Given the description of an element on the screen output the (x, y) to click on. 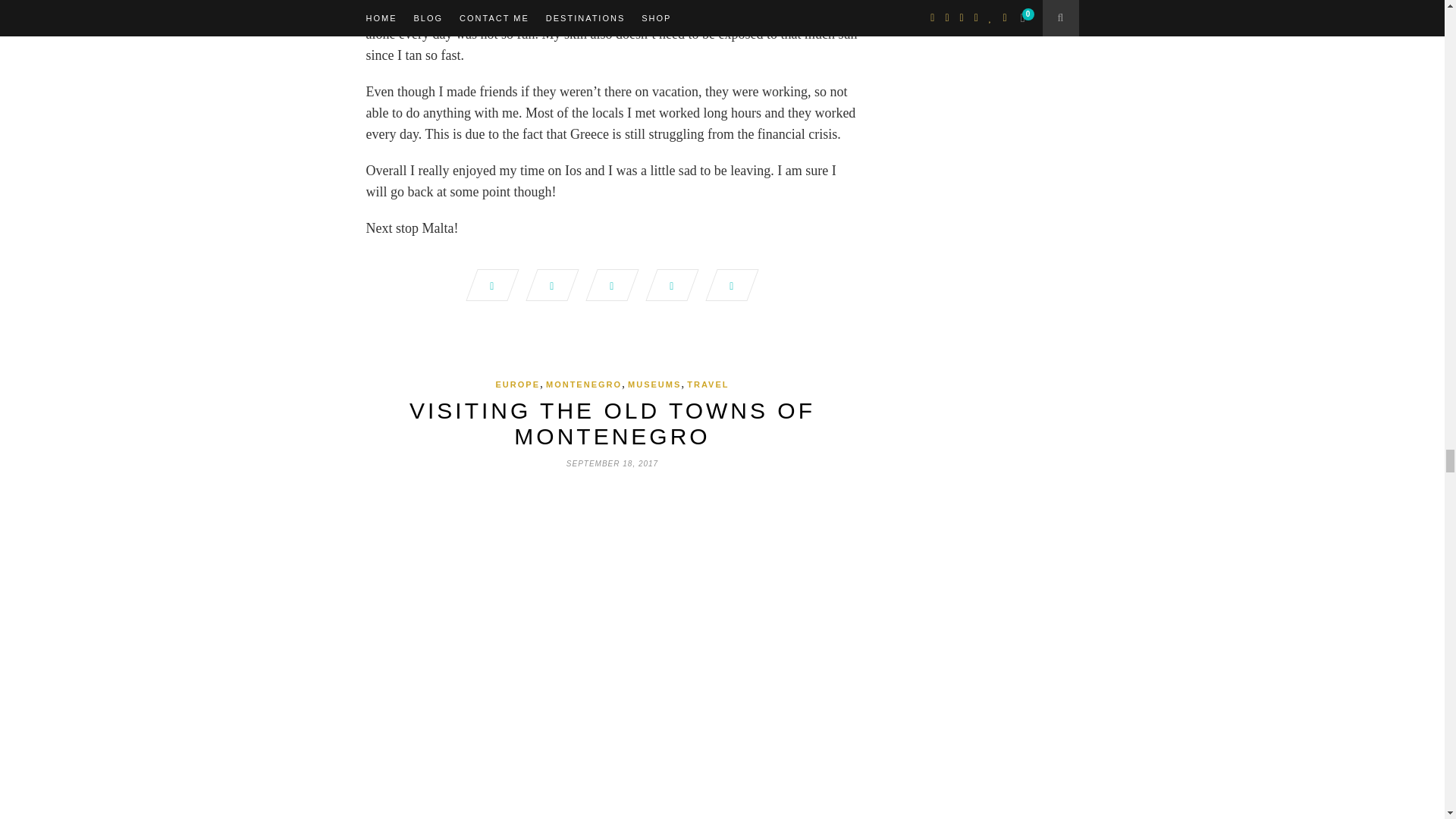
View all posts in Museums (654, 384)
View all posts in Montenegro (583, 384)
View all posts in Europe (518, 384)
View all posts in Travel (708, 384)
